Given the description of an element on the screen output the (x, y) to click on. 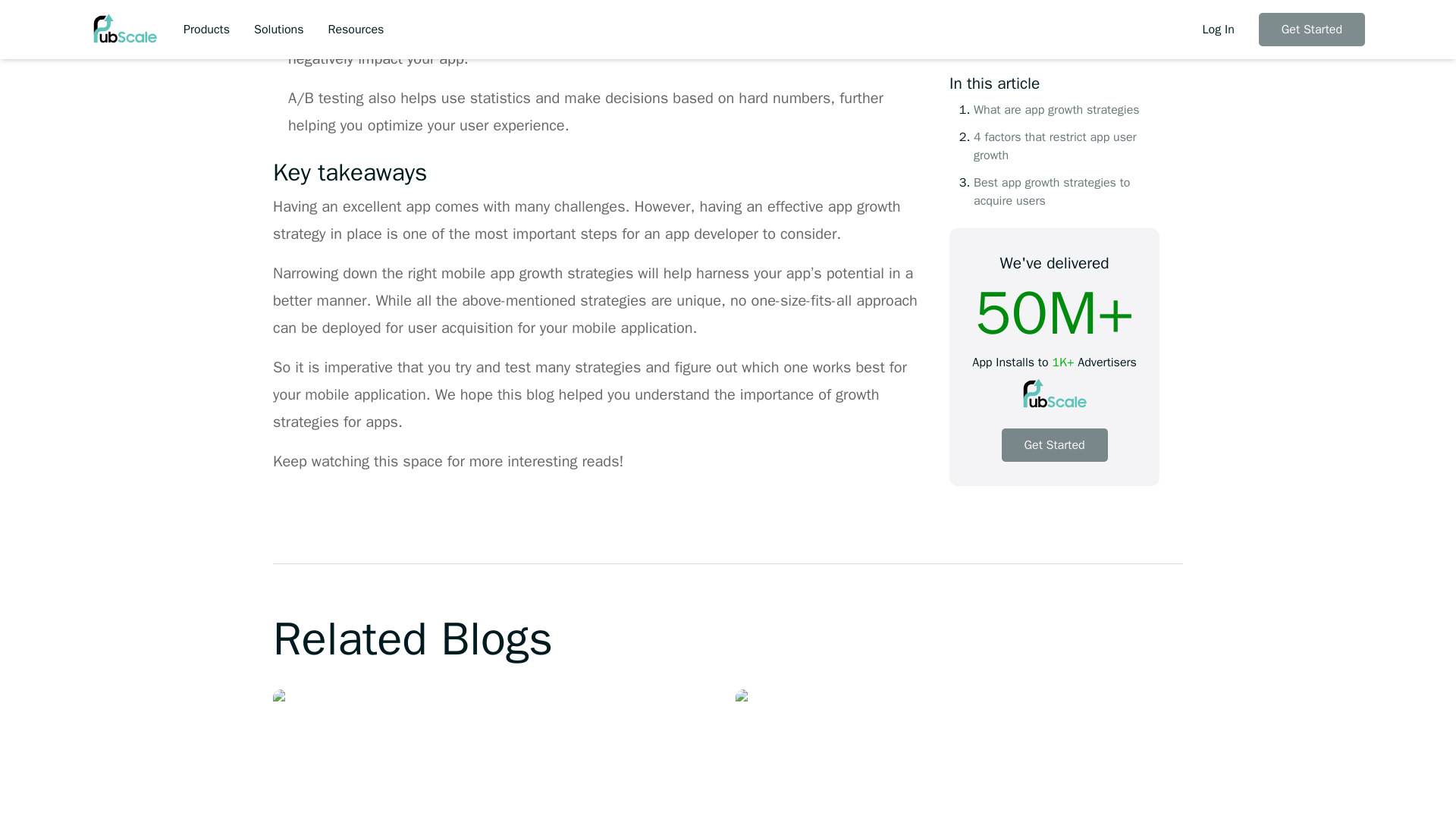
Best Self-Serve Advertising Platforms (496, 754)
CPA Affiliate Networks for Advertisers (958, 754)
